Given the description of an element on the screen output the (x, y) to click on. 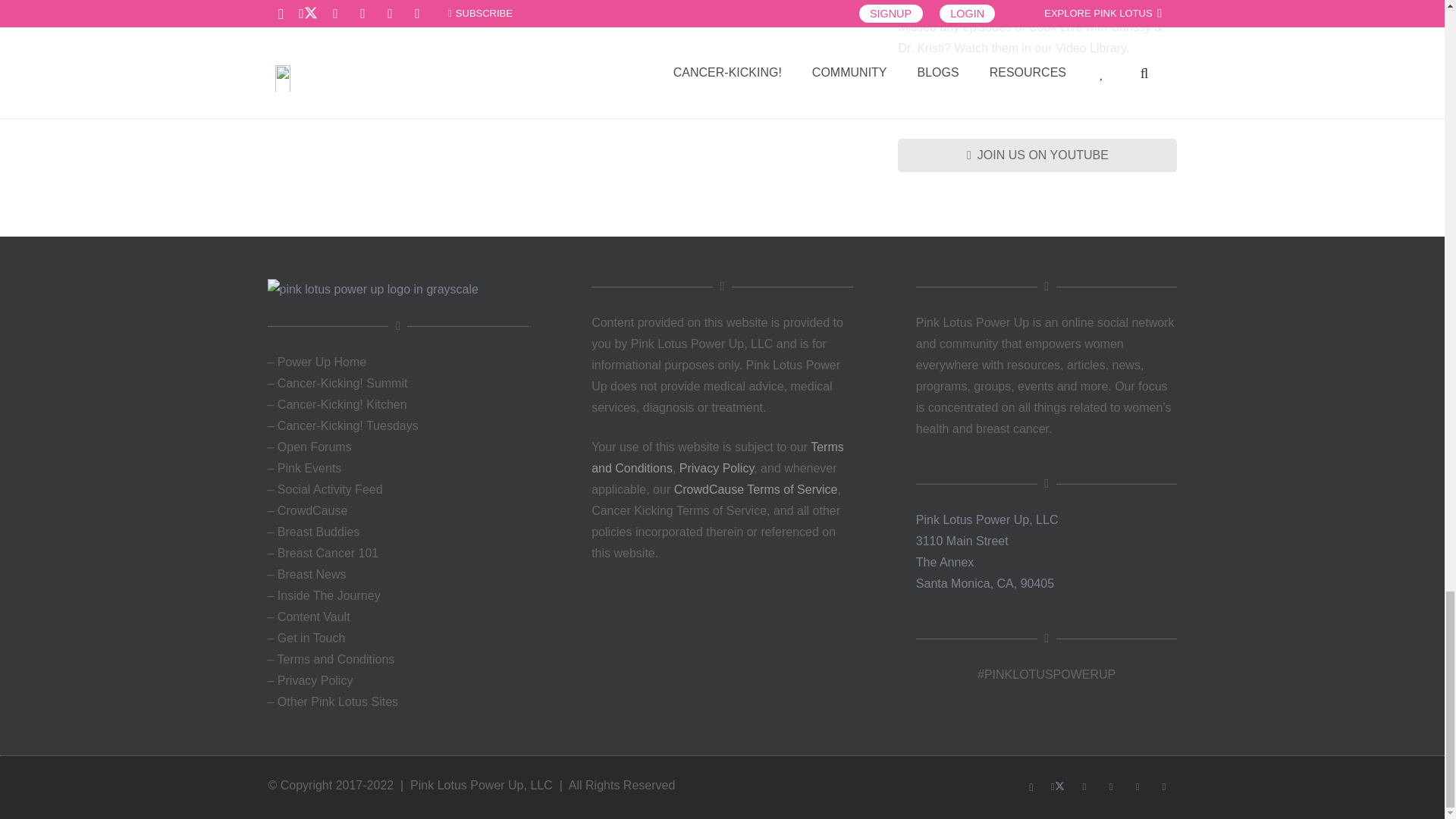
Subscribe to YouTube (1037, 155)
Pink Lotus Power Up (397, 289)
Cancer-Kicking! Kitchen Video Library (1037, 87)
